Given the description of an element on the screen output the (x, y) to click on. 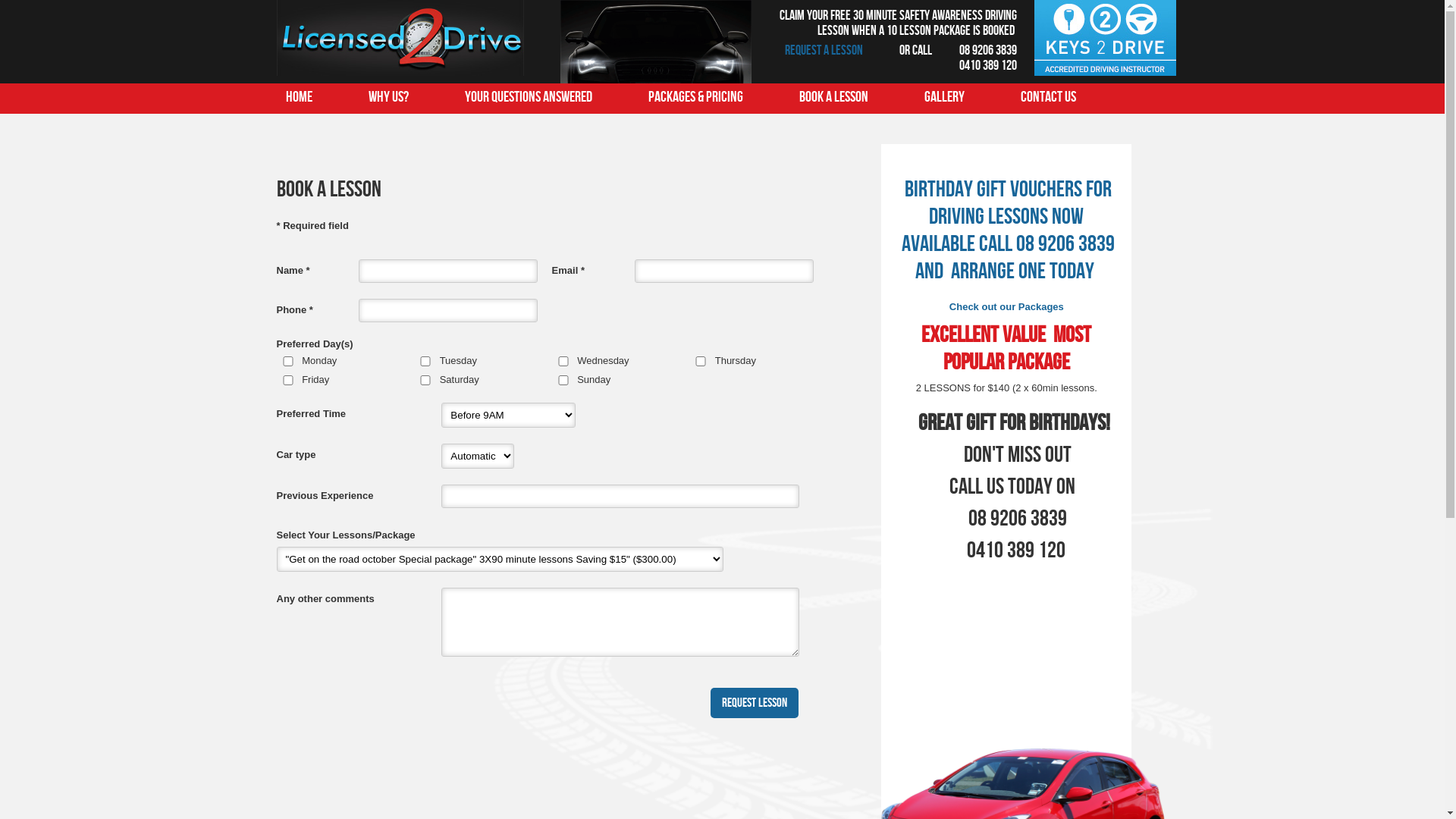
Request a Lesson Element type: text (823, 50)
Free Keys 2 Drive Lesson Element type: hover (1105, 72)
Book a Lesson Element type: text (833, 96)
Useful Links Element type: text (316, 127)
Why Us? Element type: text (388, 96)
Home Element type: text (298, 96)
Packages & Pricing Element type: text (694, 96)
Request Lesson Element type: text (754, 702)
Your questions answered Element type: text (527, 96)
Gallery Element type: text (943, 96)
Check out our Packages Element type: text (1006, 306)
Contact Us Element type: text (1048, 96)
